Given the description of an element on the screen output the (x, y) to click on. 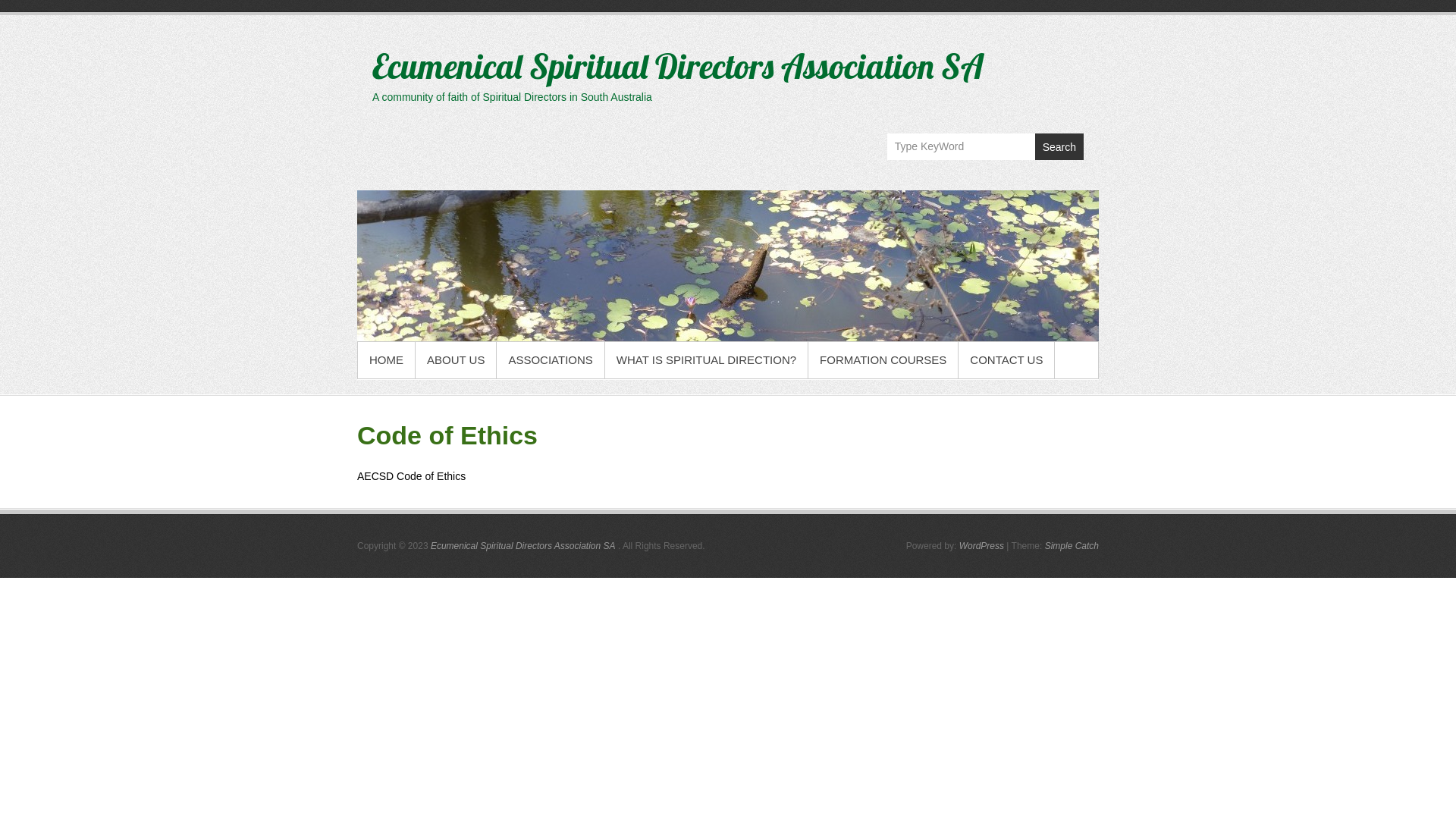
Simple Catch Element type: text (1071, 545)
ABOUT US Element type: text (455, 360)
WHAT IS SPIRITUAL DIRECTION? Element type: text (706, 360)
ASSOCIATIONS Element type: text (549, 360)
CONTACT US Element type: text (1006, 360)
AECSD Code of Ethics Element type: text (411, 476)
FORMATION COURSES Element type: text (882, 360)
Type KeyWord Element type: hover (960, 145)
HOME Element type: text (385, 360)
WordPress Element type: text (981, 545)
Ecumenical Spiritual Directors Association SA Element type: hover (727, 265)
Search Element type: text (1059, 146)
Ecumenical Spiritual Directors Association SA Element type: text (677, 65)
Ecumenical Spiritual Directors Association SA Element type: text (522, 545)
